Given the description of an element on the screen output the (x, y) to click on. 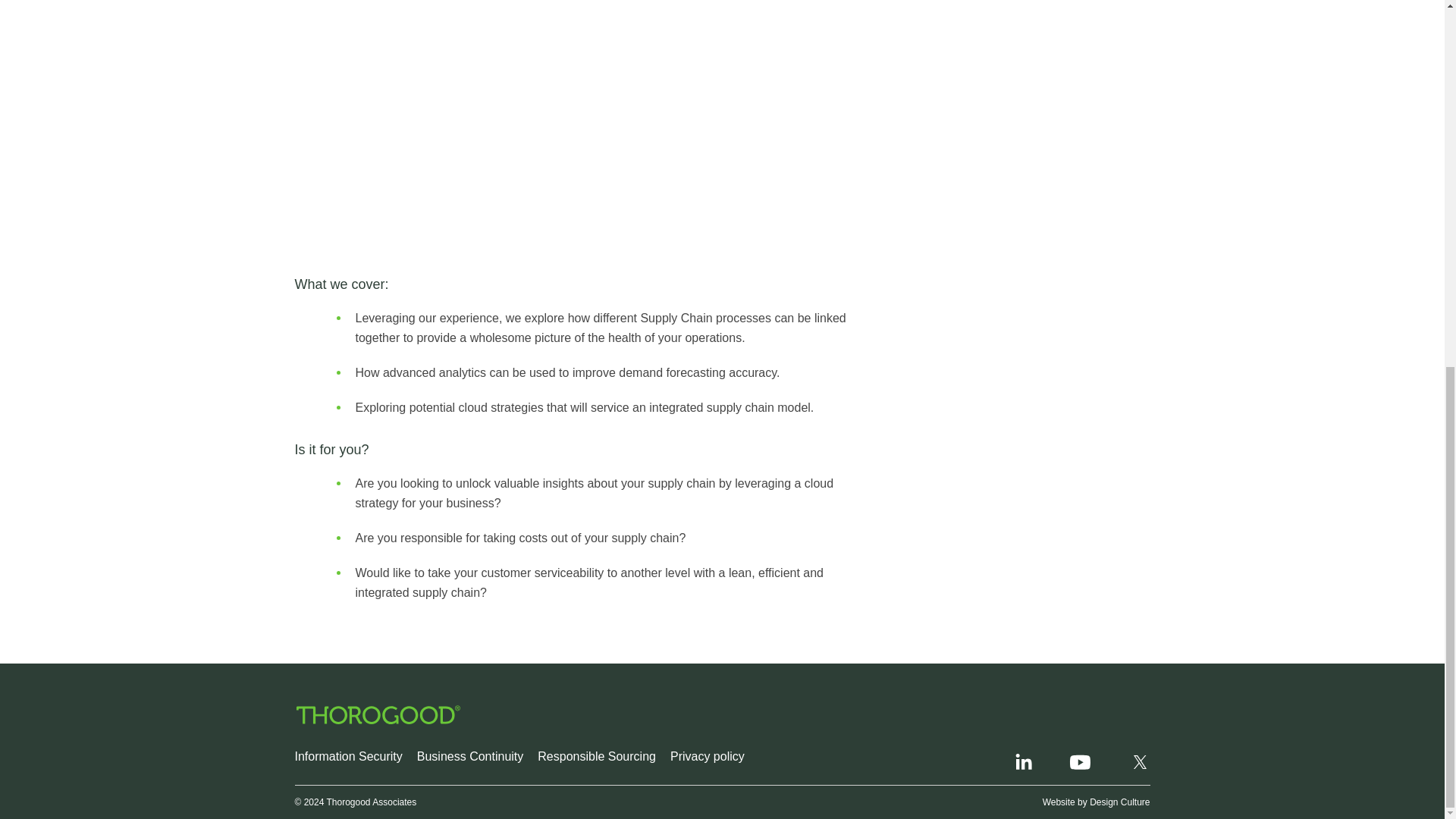
Information Security (347, 756)
Business Continuity (470, 756)
Responsible Sourcing (596, 756)
Design Culture (1119, 801)
Privacy policy (706, 756)
